Given the description of an element on the screen output the (x, y) to click on. 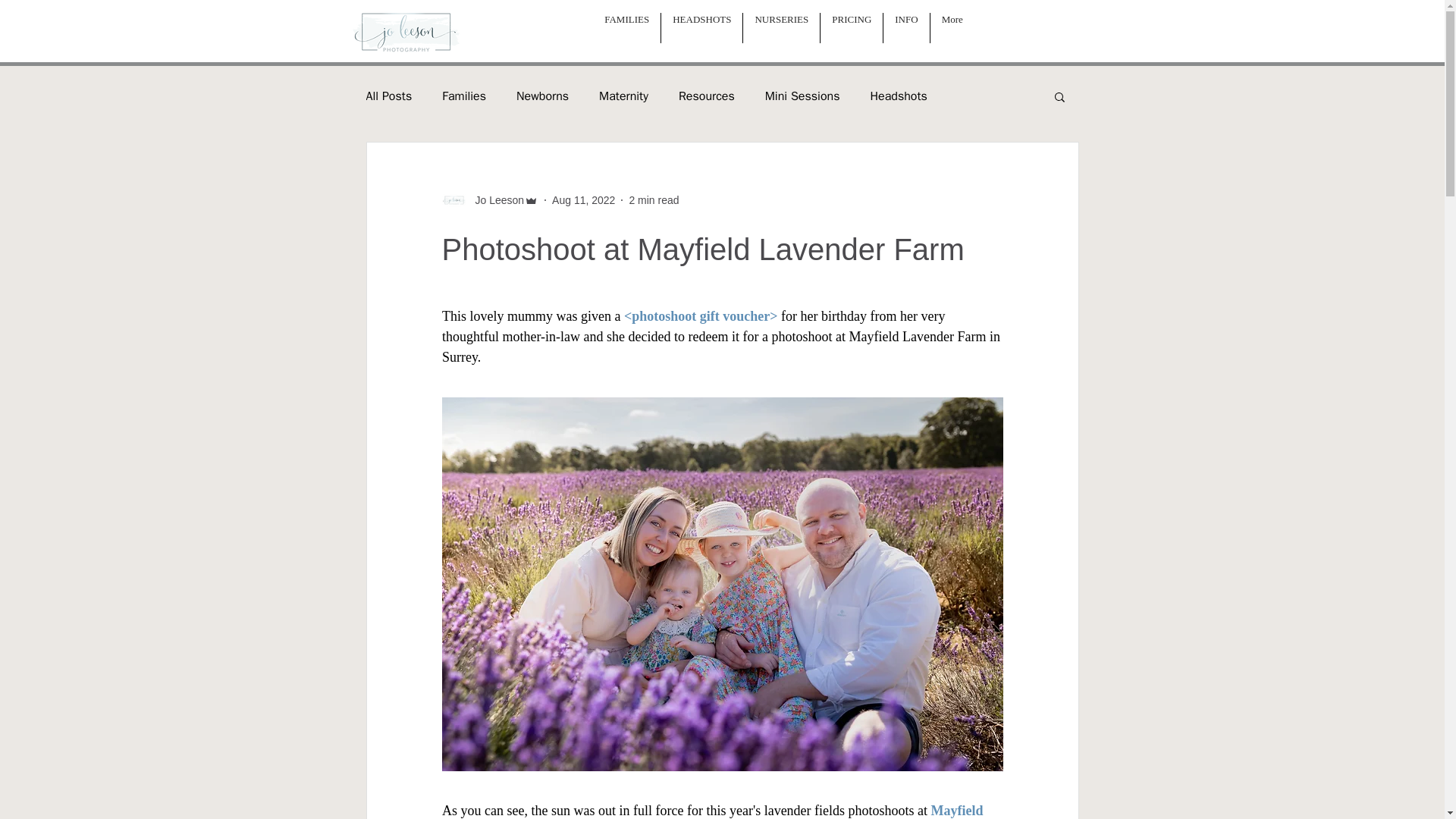
Headshots (897, 95)
All Posts (388, 95)
Families (464, 95)
Maternity (622, 95)
Resources (706, 95)
Newborns (542, 95)
Jo Leeson (494, 200)
Aug 11, 2022 (582, 200)
Mayfield Lavender (713, 811)
NURSERIES (780, 28)
